Given the description of an element on the screen output the (x, y) to click on. 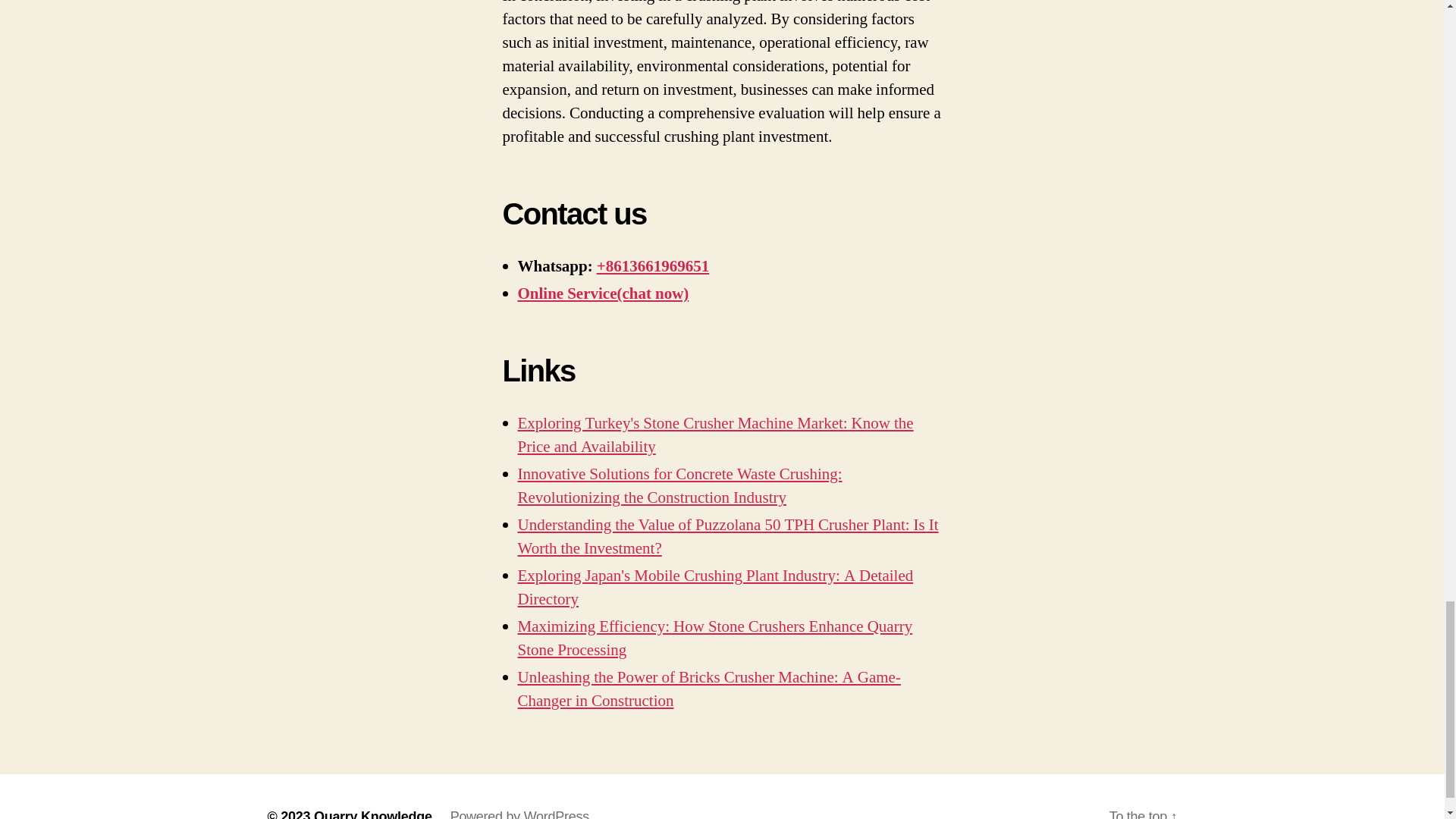
Quarry Knowledge (373, 814)
Powered by WordPress (519, 814)
